Given the description of an element on the screen output the (x, y) to click on. 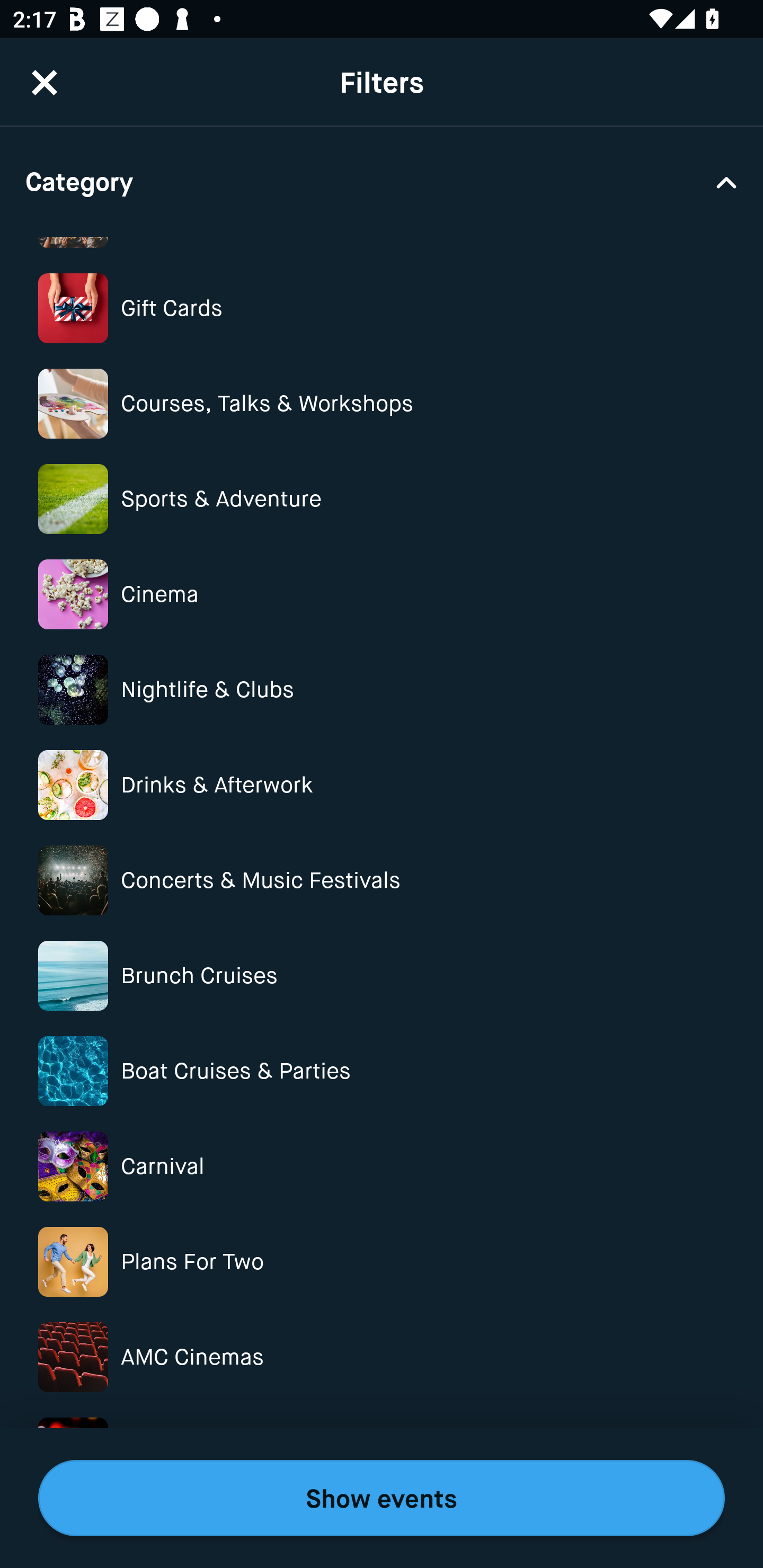
Category Drop Down Arrow (381, 181)
Category Image Gift Cards (381, 307)
Category Image Courses, Talks & Workshops (381, 403)
Category Image Sports & Adventure (381, 498)
Category Image Cinema (381, 593)
Category Image Nightlife & Clubs (381, 689)
Category Image Drinks & Afterwork (381, 784)
Category Image Concerts & Music Festivals (381, 880)
Category Image Brunch Cruises (381, 975)
Category Image Boat Cruises & Parties (381, 1070)
Category Image Carnival (381, 1166)
Category Image Plans For Two (381, 1261)
Category Image AMC Cinemas (381, 1356)
Show events (381, 1497)
